Given the description of an element on the screen output the (x, y) to click on. 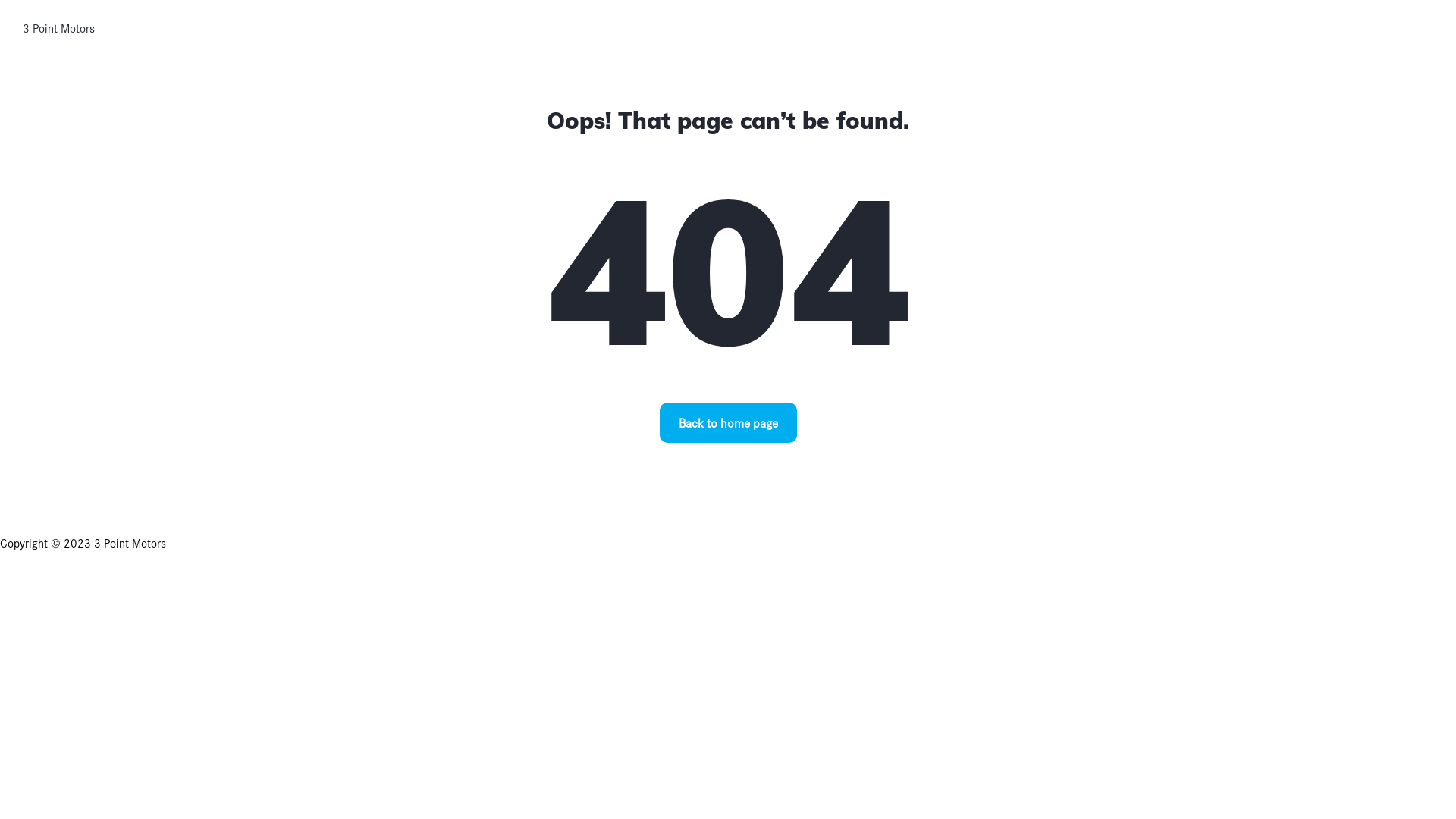
3 Point Motors Element type: text (58, 27)
Back to home page Element type: text (728, 422)
